Given the description of an element on the screen output the (x, y) to click on. 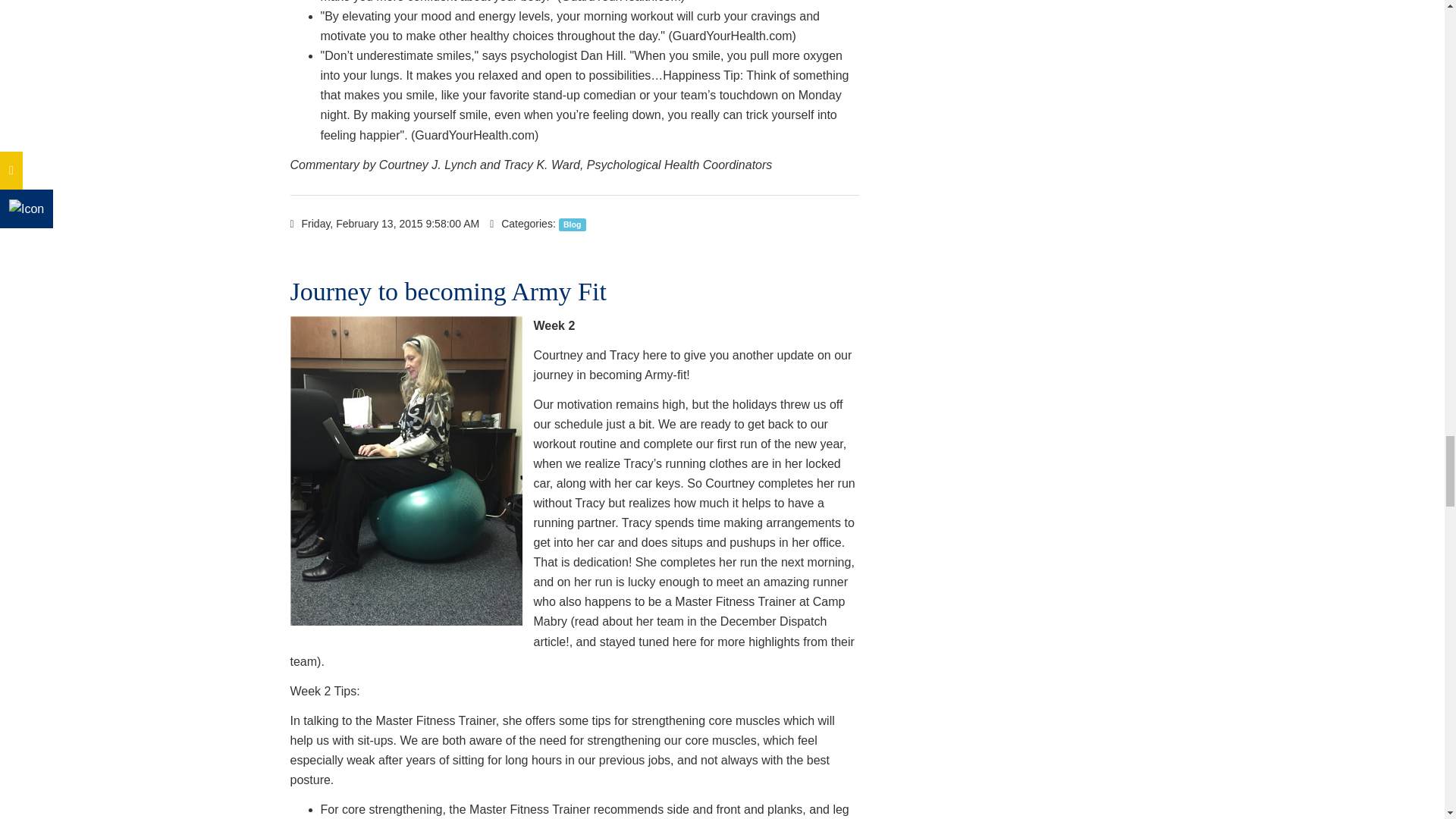
Blog (572, 224)
Journey to becoming Army Fit (447, 291)
